Given the description of an element on the screen output the (x, y) to click on. 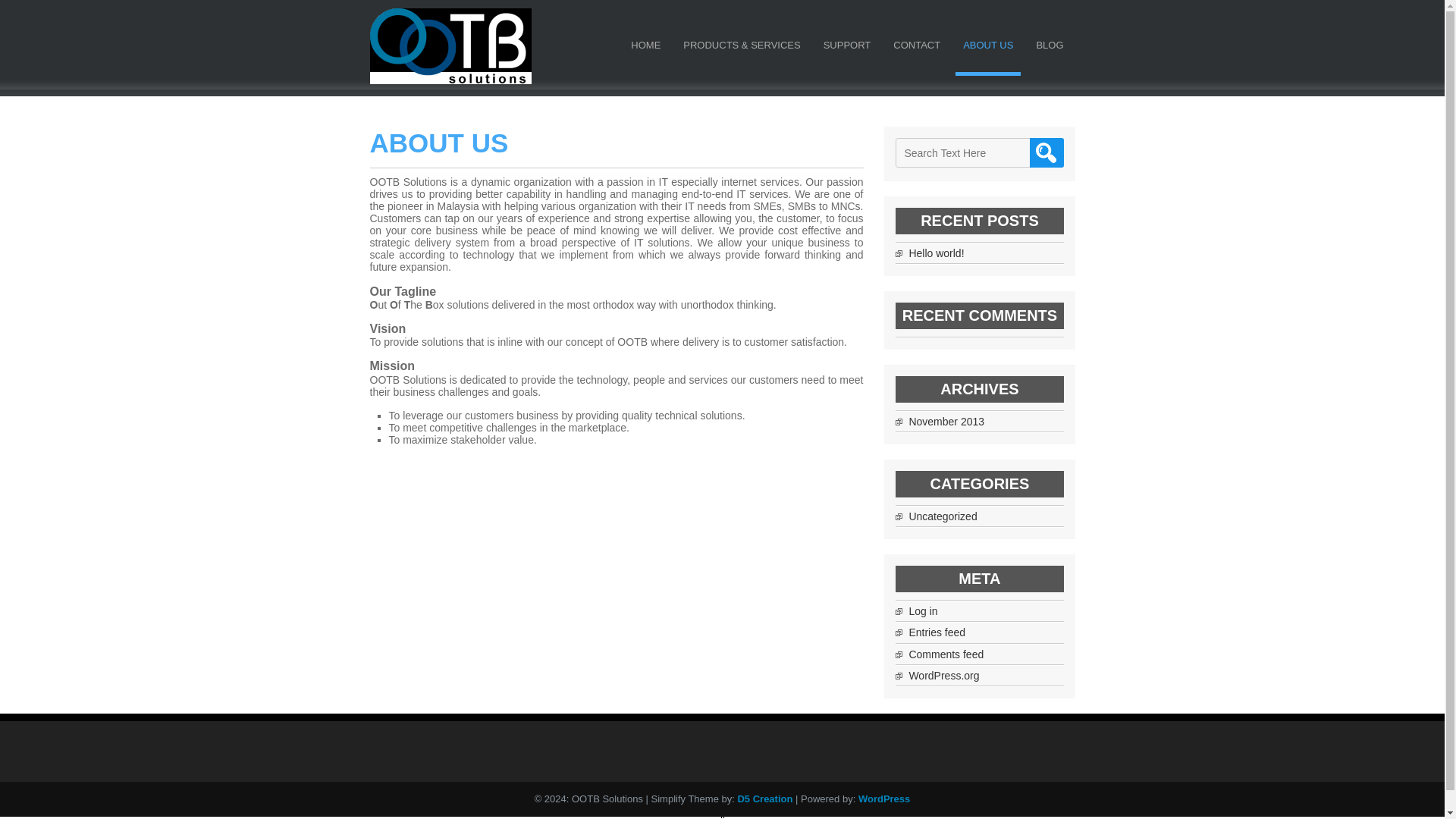
D5 Creation (764, 798)
CONTACT (916, 48)
ABOUT US (987, 48)
Uncategorized (942, 516)
SUPPORT (847, 48)
WordPress.org (943, 675)
Entries feed (936, 632)
November 2013 (946, 421)
Log in (922, 611)
WordPress (884, 798)
Comments feed (946, 654)
Search (1046, 152)
Search (1046, 152)
Hello world! (935, 253)
